Given the description of an element on the screen output the (x, y) to click on. 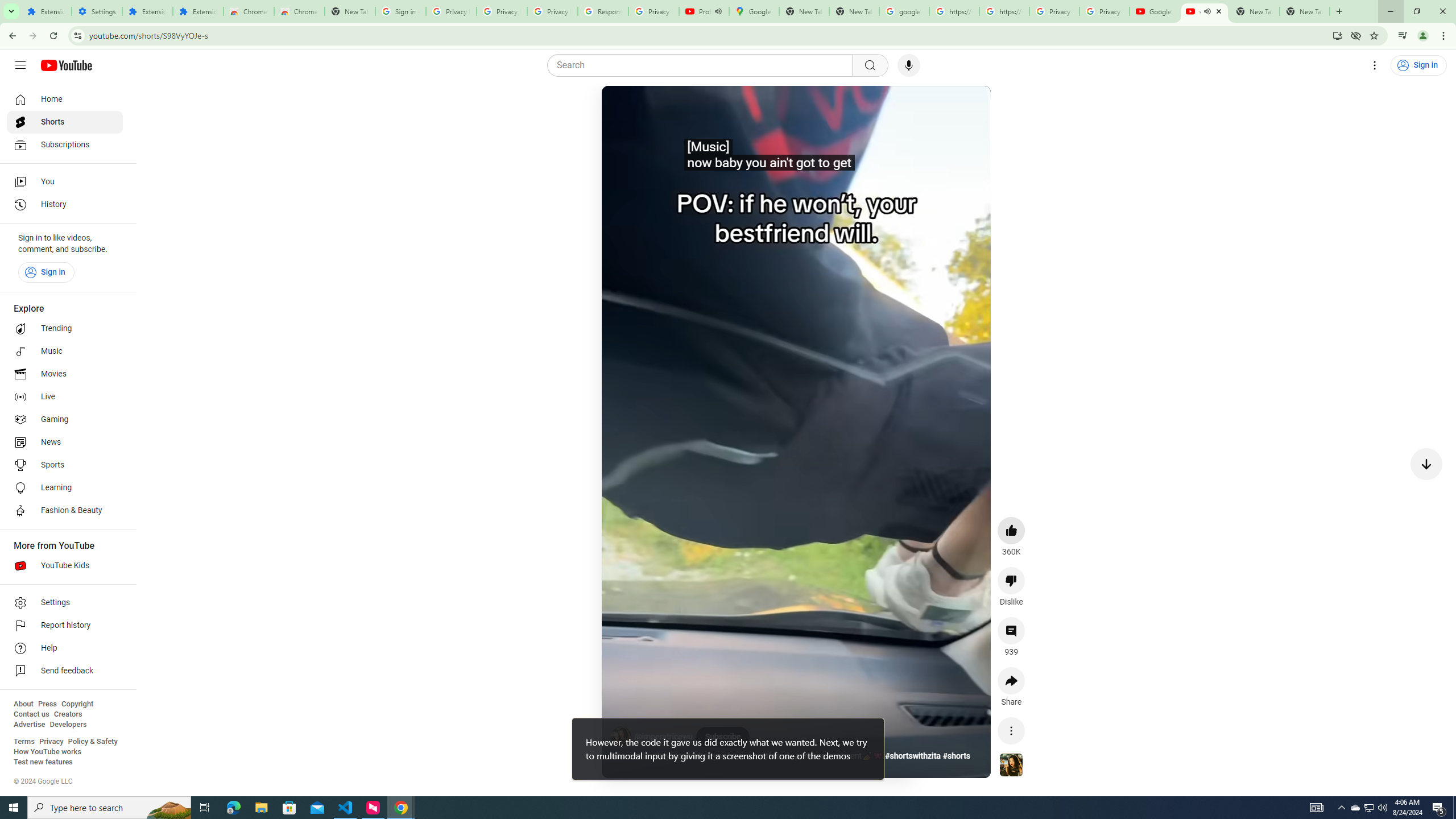
Pause (k) (623, 108)
like this video along with 360K other people (1011, 530)
View site information (77, 35)
https://scholar.google.com/ (954, 11)
Copyright (77, 703)
Back (10, 35)
Chrome (1445, 35)
View 939 comments (1011, 630)
Privacy (51, 741)
Policy & Safety (91, 741)
Extensions (46, 11)
Close (1219, 11)
